Given the description of an element on the screen output the (x, y) to click on. 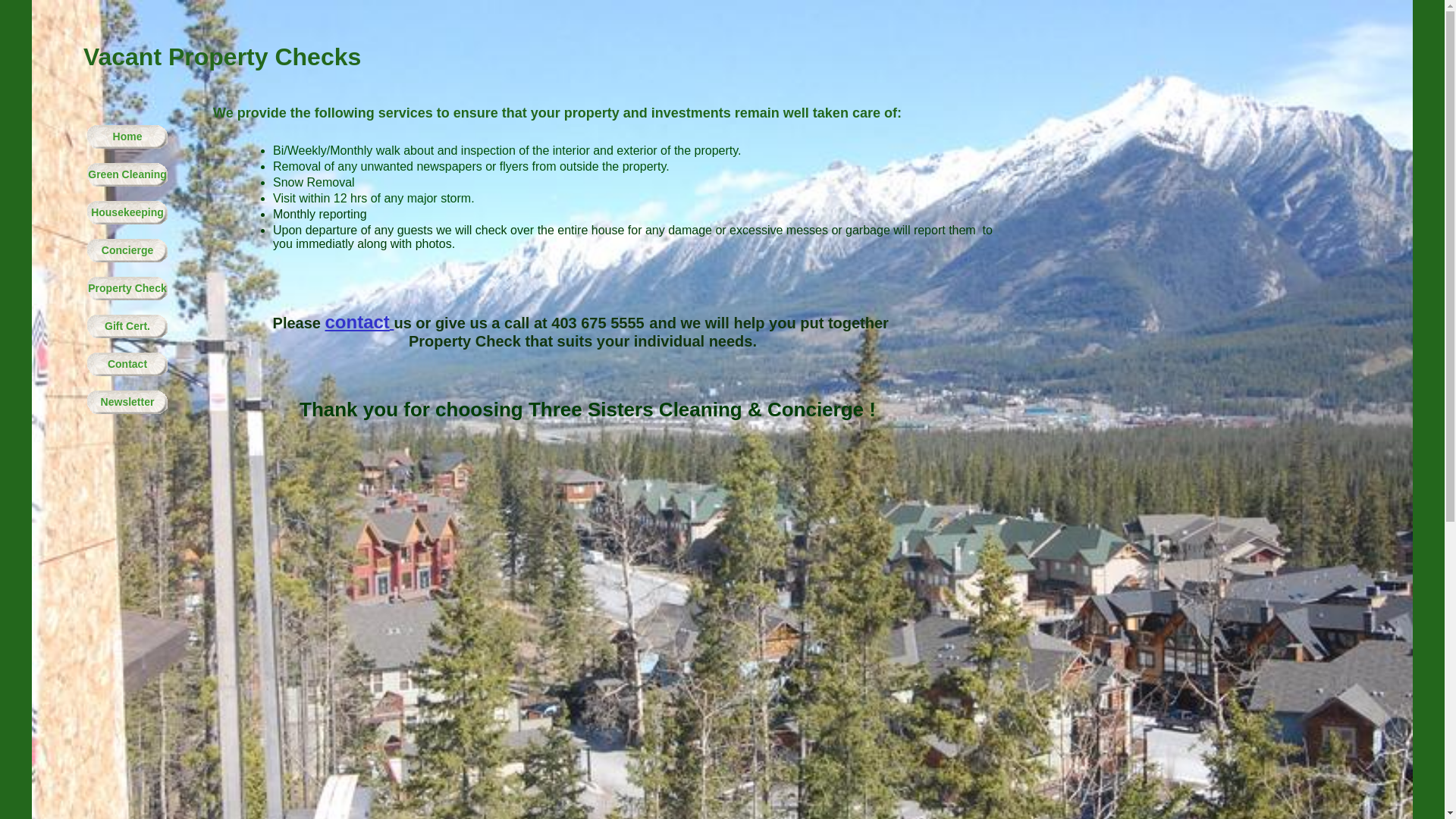
Concierge Element type: text (127, 250)
contact Element type: text (356, 321)
  Element type: text (391, 322)
Property Check Element type: text (127, 288)
Housekeeping Element type: text (127, 212)
Contact Element type: text (127, 364)
Newsletter Element type: text (127, 402)
Home Element type: text (127, 136)
Green Cleaning Element type: text (127, 174)
Gift Cert. Element type: text (127, 326)
